Given the description of an element on the screen output the (x, y) to click on. 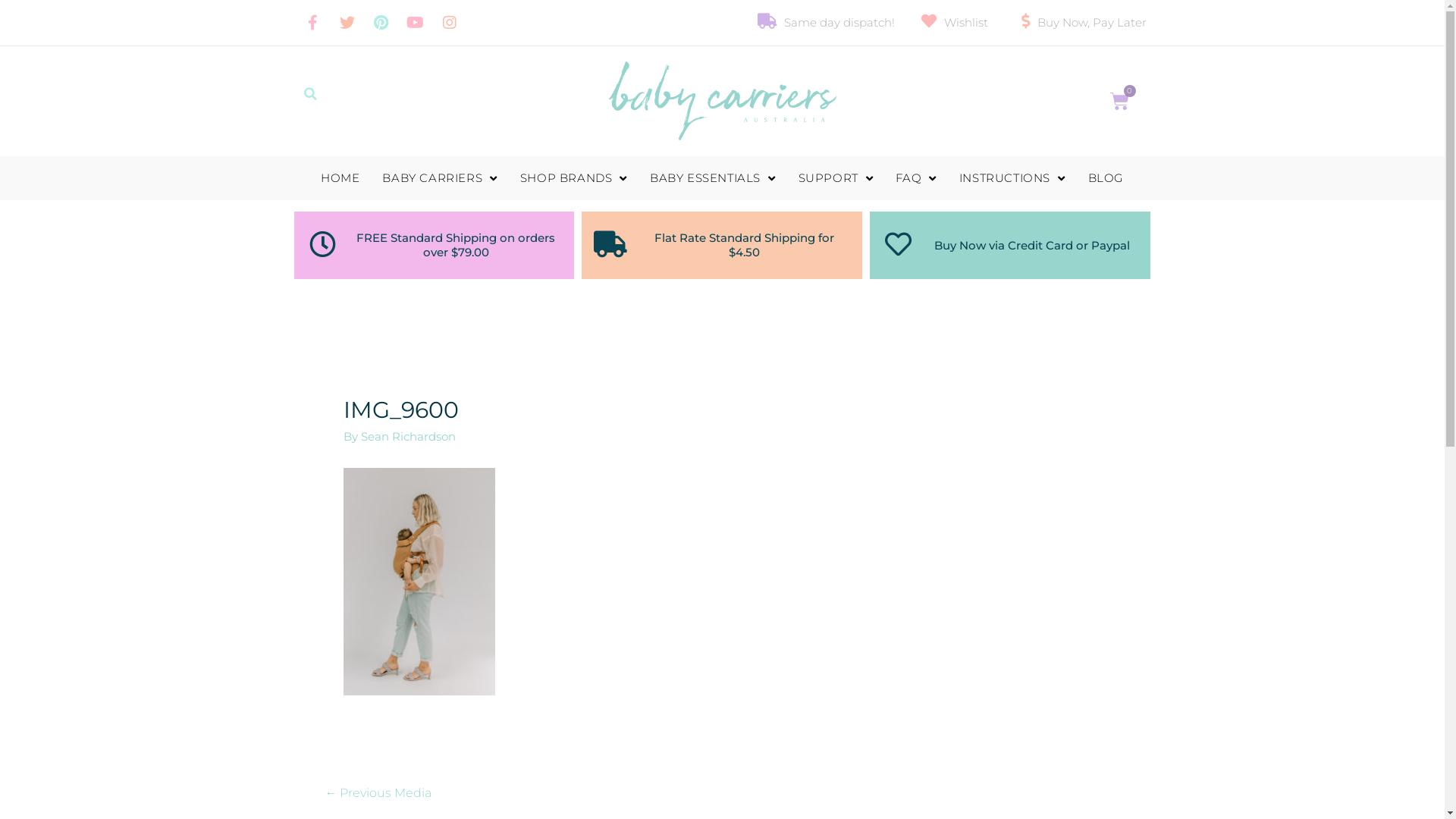
HOME Element type: text (339, 177)
FAQ Element type: text (915, 177)
INSTRUCTIONS Element type: text (1011, 177)
Sean Richardson Element type: text (407, 436)
Wishlist Element type: text (952, 22)
SHOP BRANDS Element type: text (573, 177)
BABY CARRIERS Element type: text (439, 177)
Buy Now, Pay Later Element type: text (1078, 22)
BLOG Element type: text (1105, 177)
SUPPORT Element type: text (835, 177)
BABY ESSENTIALS Element type: text (712, 177)
